Given the description of an element on the screen output the (x, y) to click on. 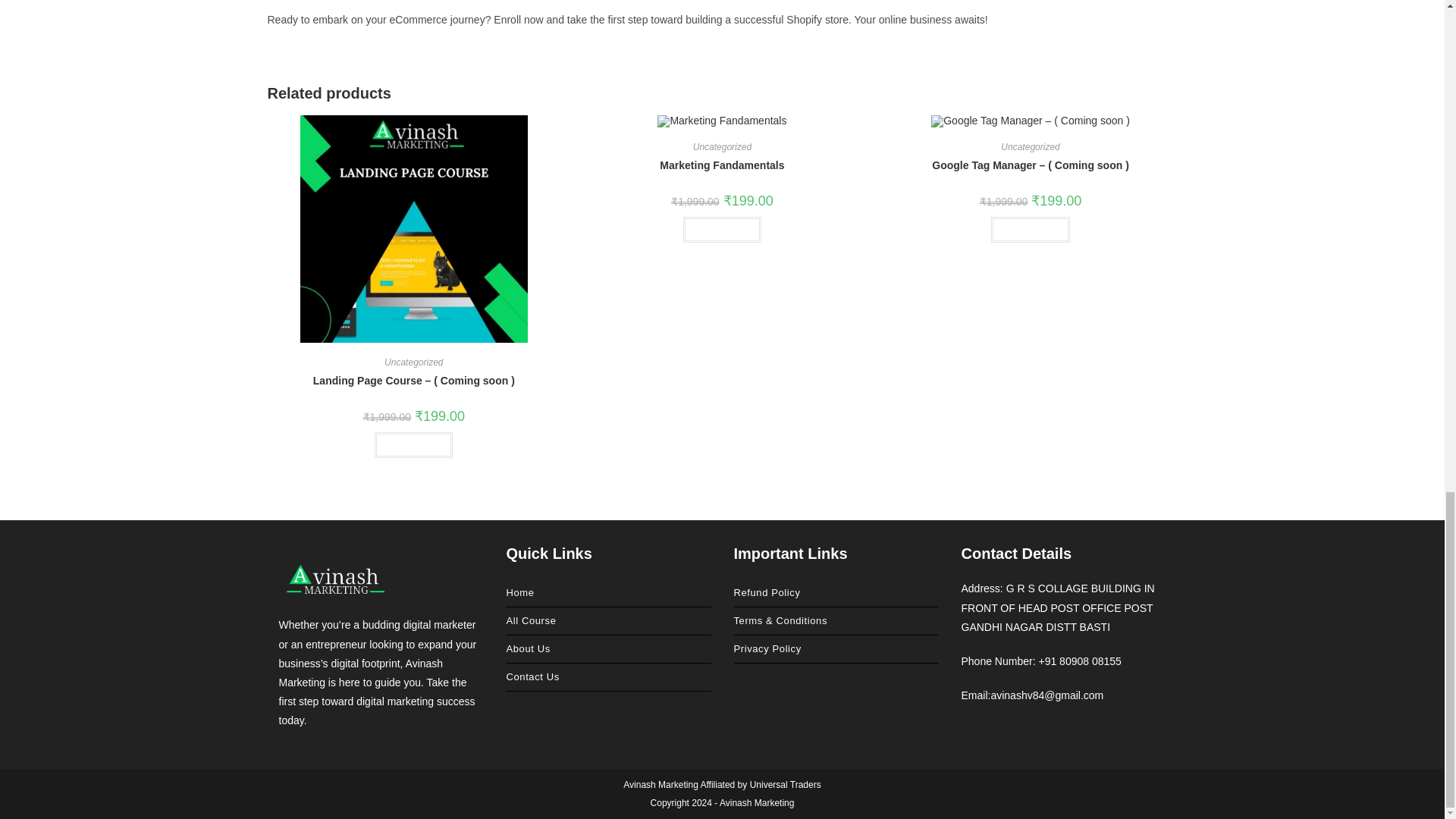
Uncategorized (413, 362)
Enroll now (721, 229)
Marketing Fandamentals (721, 165)
Enroll now (413, 444)
Uncategorized (722, 146)
